Given the description of an element on the screen output the (x, y) to click on. 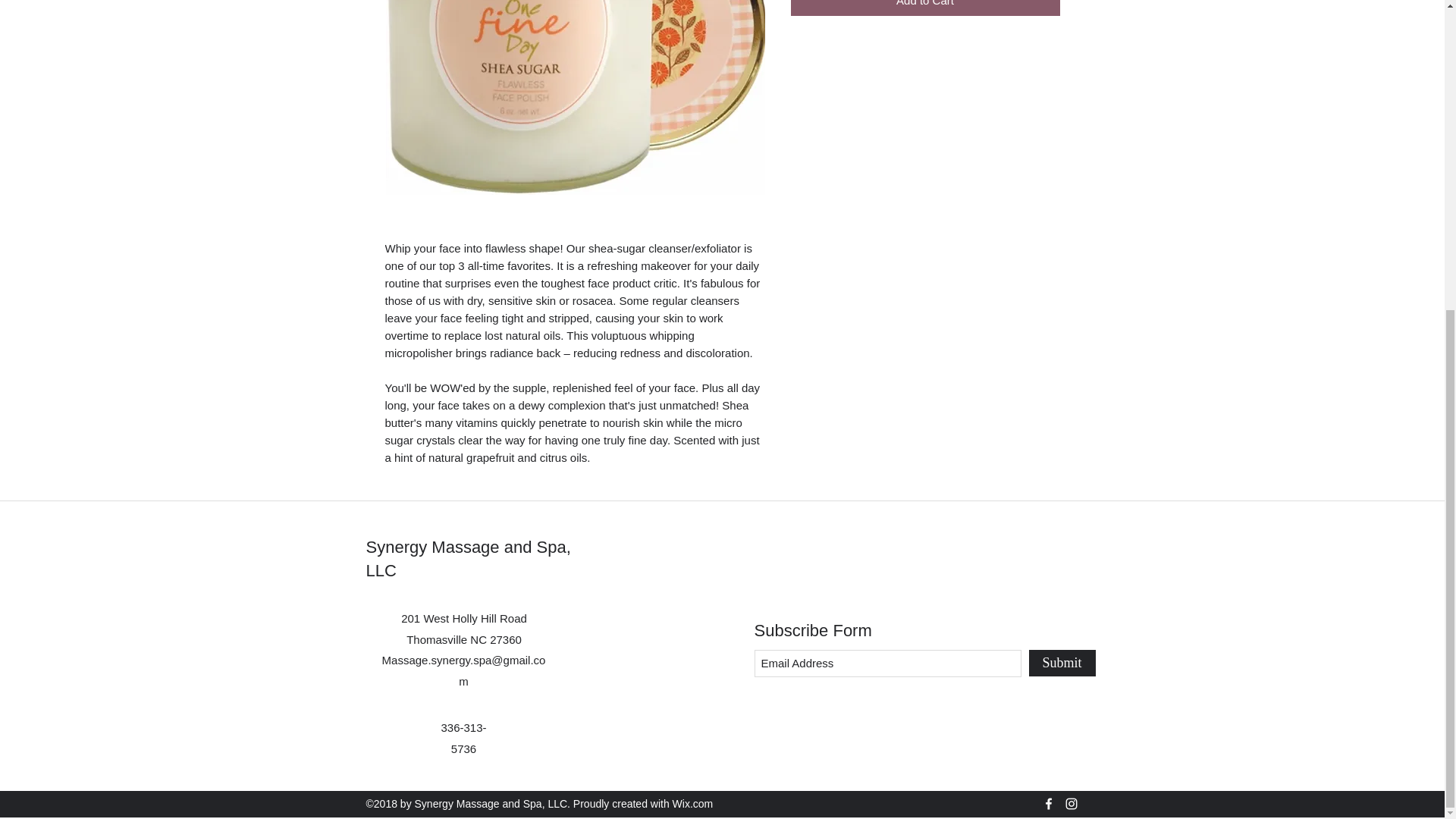
Synergy Massage and Spa, LLC (467, 558)
Add to Cart (924, 7)
Submit (1060, 663)
